Given the description of an element on the screen output the (x, y) to click on. 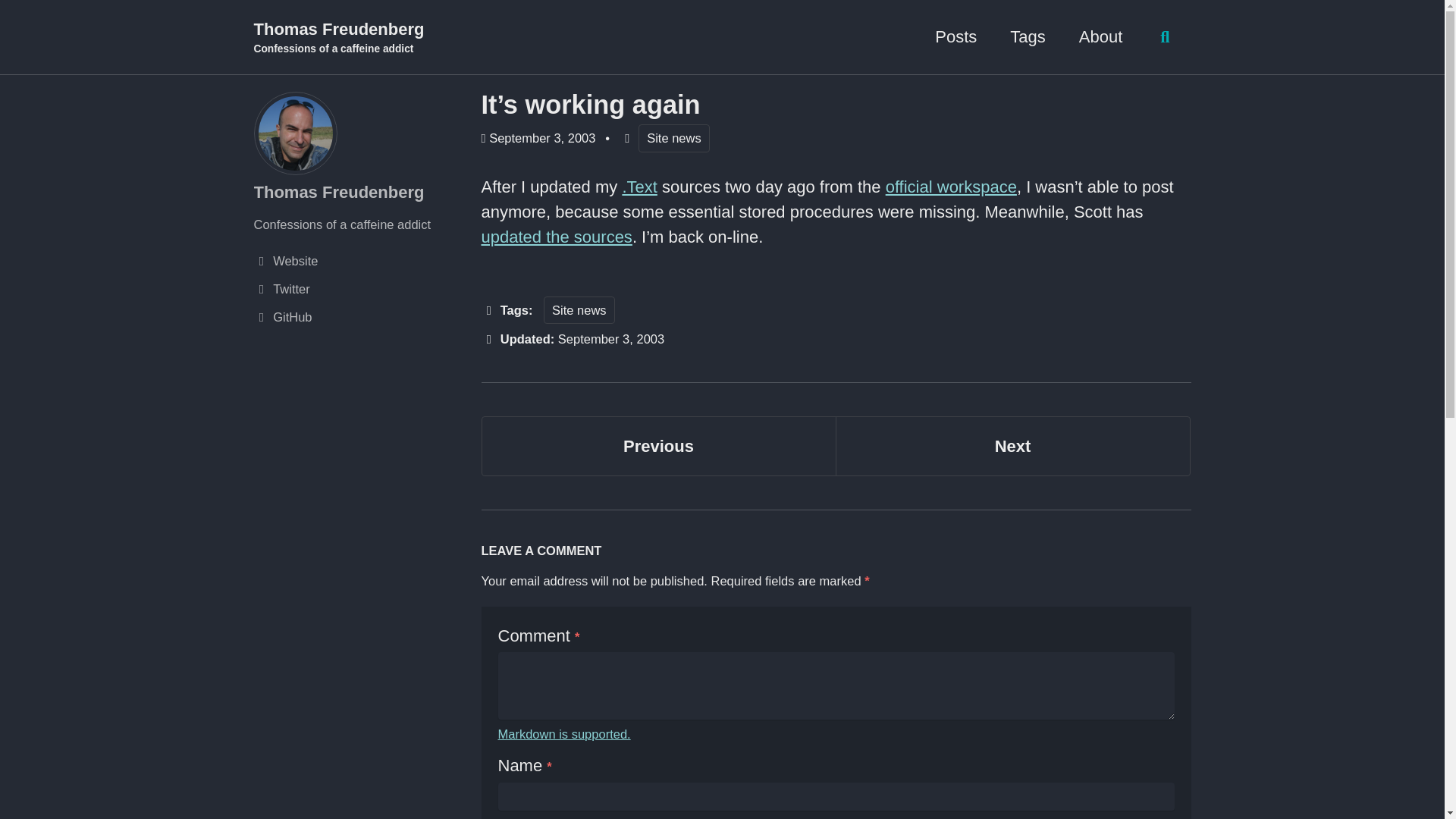
Website (358, 260)
Site news (674, 138)
Twitter (358, 289)
GitHub (1013, 445)
About (358, 317)
Next (1100, 36)
Site news (1013, 445)
official workspace (578, 310)
updated the sources (950, 186)
Toggle search (657, 445)
Previous (555, 236)
Markdown is supported. (1164, 37)
Tags (657, 445)
